Given the description of an element on the screen output the (x, y) to click on. 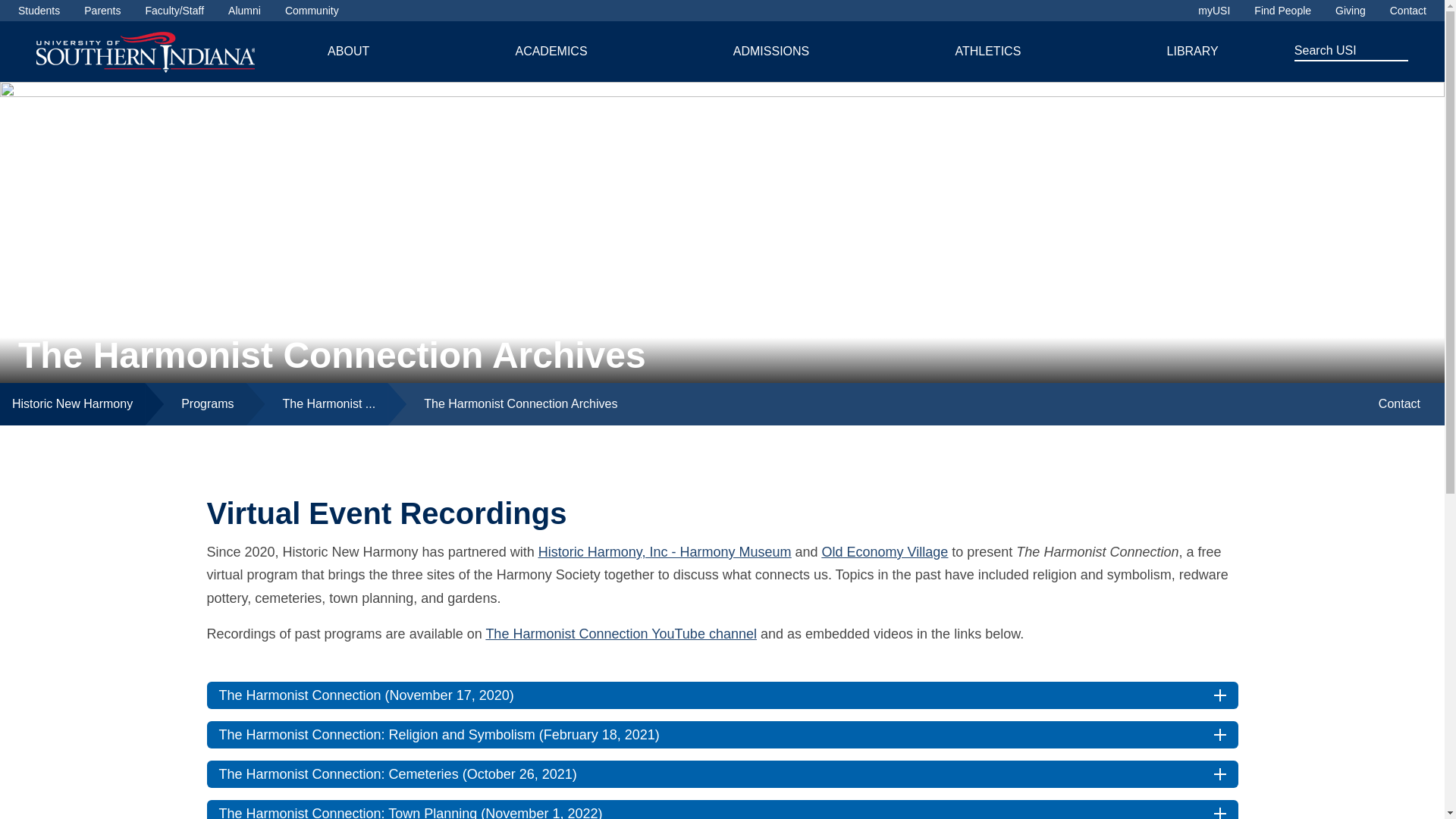
The Harmonist Connection YouTube Channel (620, 633)
The Harmonist Connection (316, 404)
Find People (1282, 10)
Contact (1408, 10)
Giving (1350, 10)
Historic Harmony Website (665, 551)
Students (38, 10)
Community (312, 10)
Alumni (244, 10)
Programs (195, 404)
Historic New Harmony (72, 404)
Old Economy Village Website (885, 551)
Parents (102, 10)
University of Southern Indiana (145, 50)
myUSI (1214, 10)
